Given the description of an element on the screen output the (x, y) to click on. 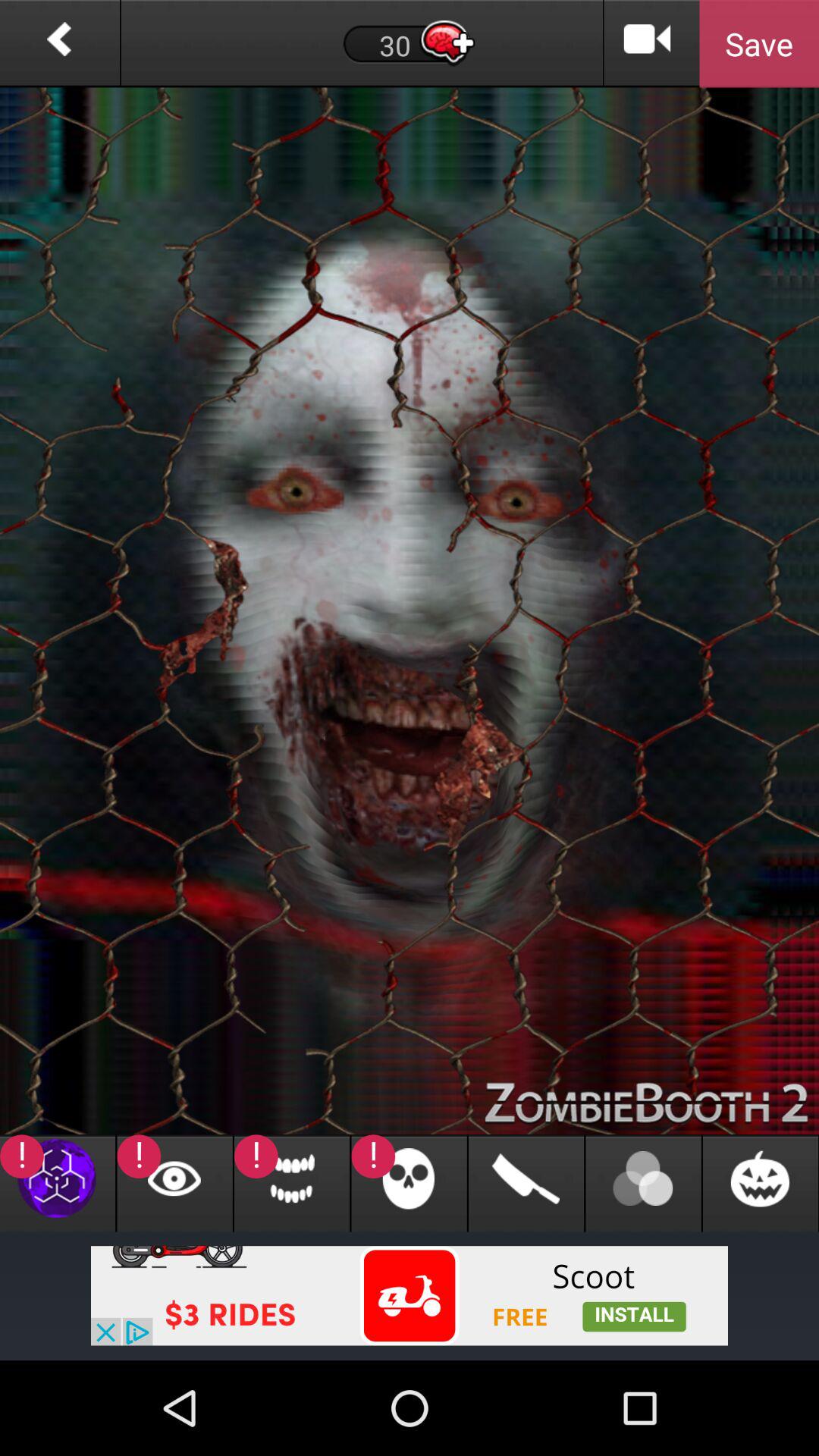
record video option (647, 43)
